Given the description of an element on the screen output the (x, y) to click on. 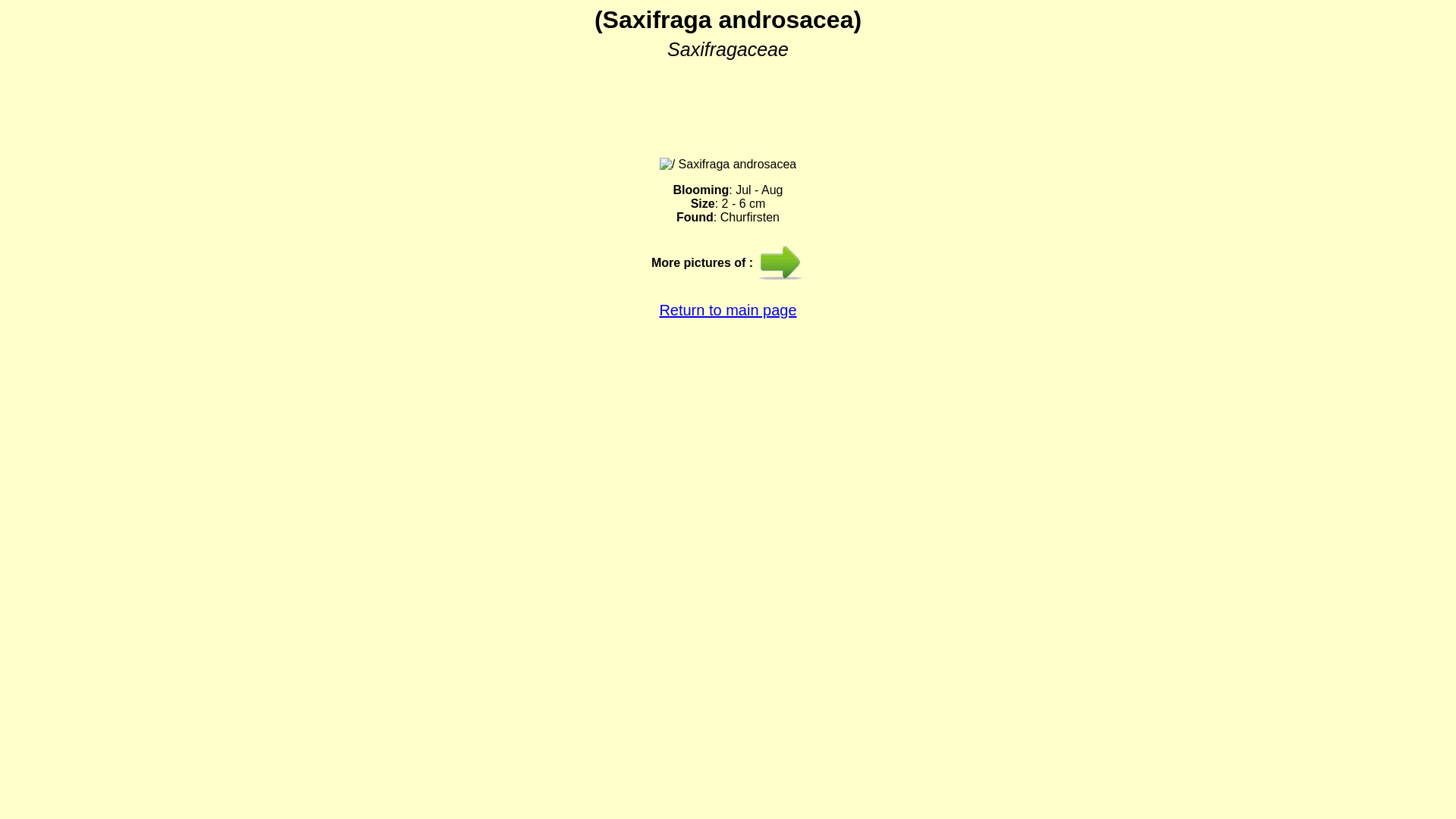
Return to main page Element type: text (727, 309)
